Given the description of an element on the screen output the (x, y) to click on. 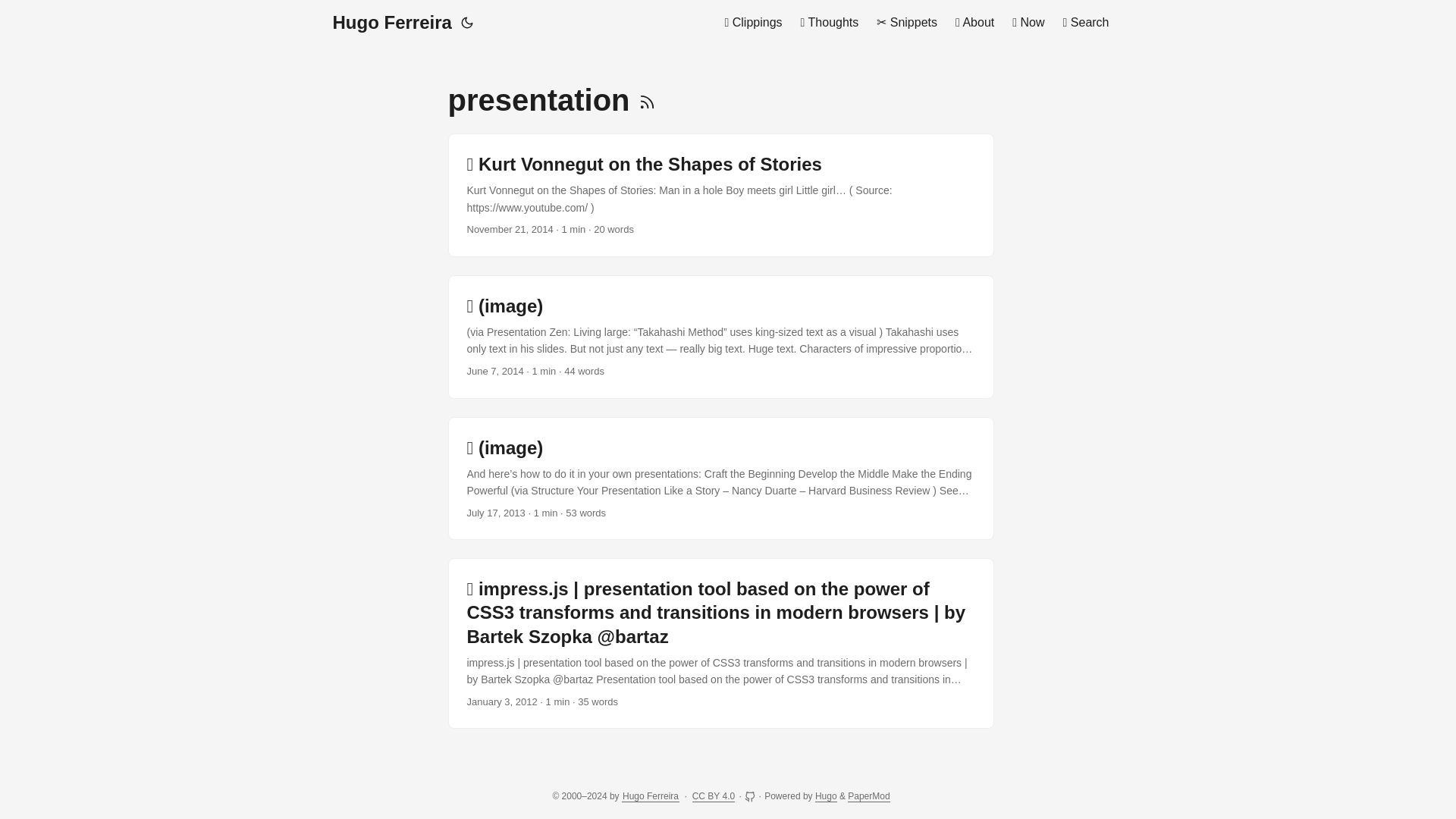
Hugo Ferreira (650, 796)
Hugo Ferreira (391, 22)
CC BY 4.0 (714, 796)
Hugo (826, 796)
PaperMod (868, 796)
GitHub (750, 796)
